Given the description of an element on the screen output the (x, y) to click on. 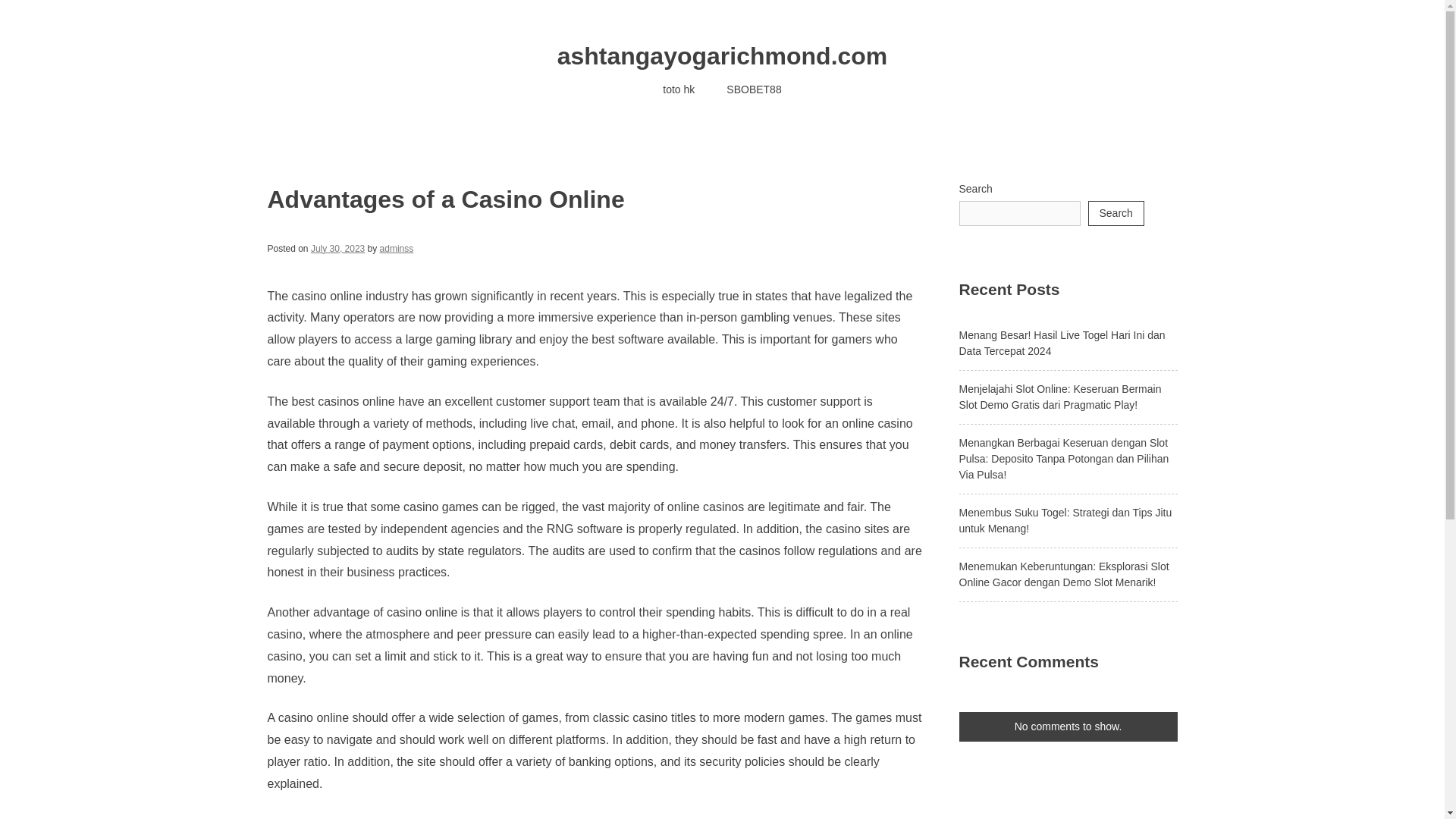
adminss (396, 248)
ashtangayogarichmond.com (722, 55)
Search (1114, 213)
Menembus Suku Togel: Strategi dan Tips Jitu untuk Menang! (1065, 520)
July 30, 2023 (338, 248)
SBOBET88 (753, 89)
toto hk (678, 89)
